Given the description of an element on the screen output the (x, y) to click on. 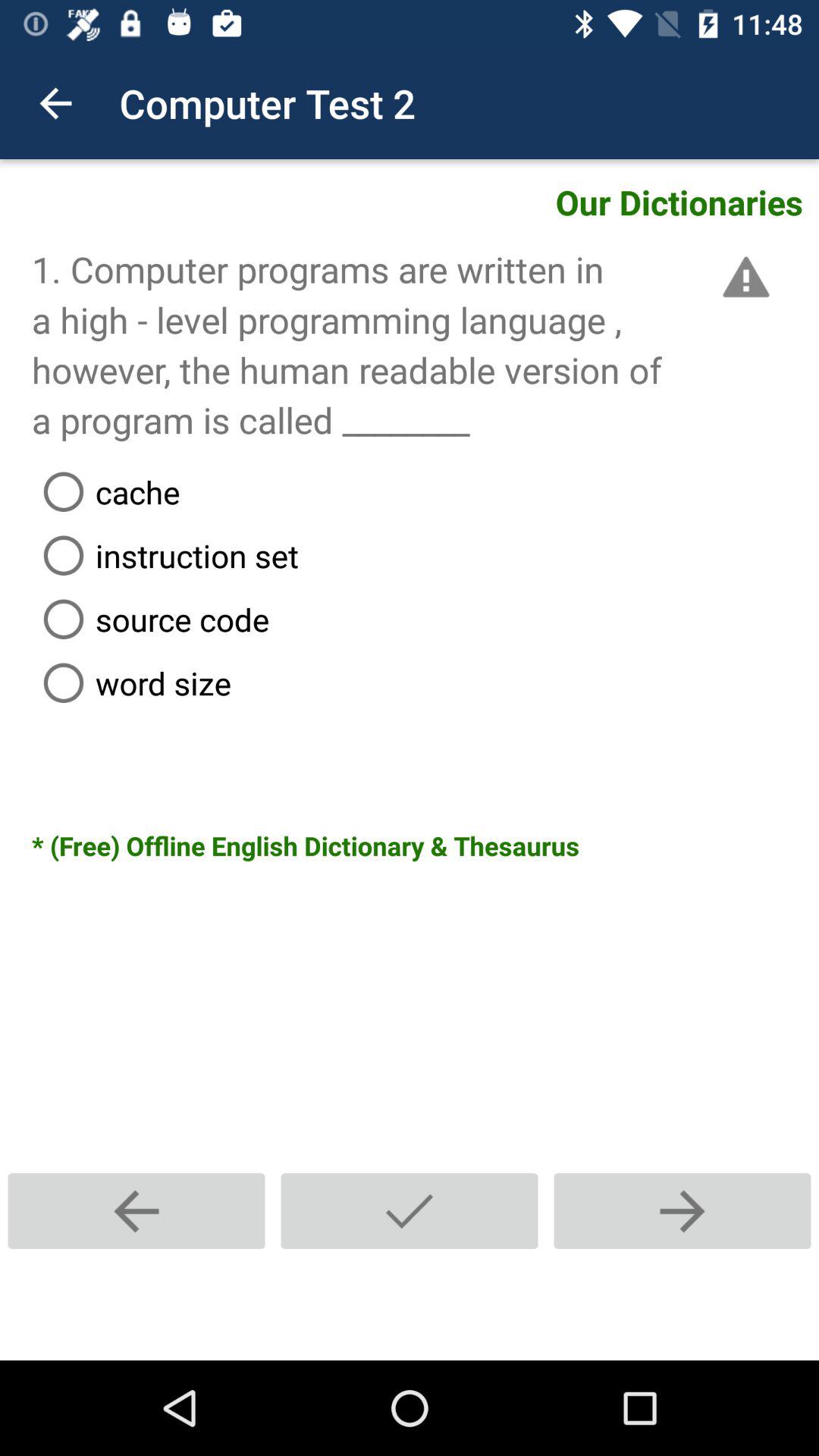
choose the item above our dictionaries (55, 103)
